Given the description of an element on the screen output the (x, y) to click on. 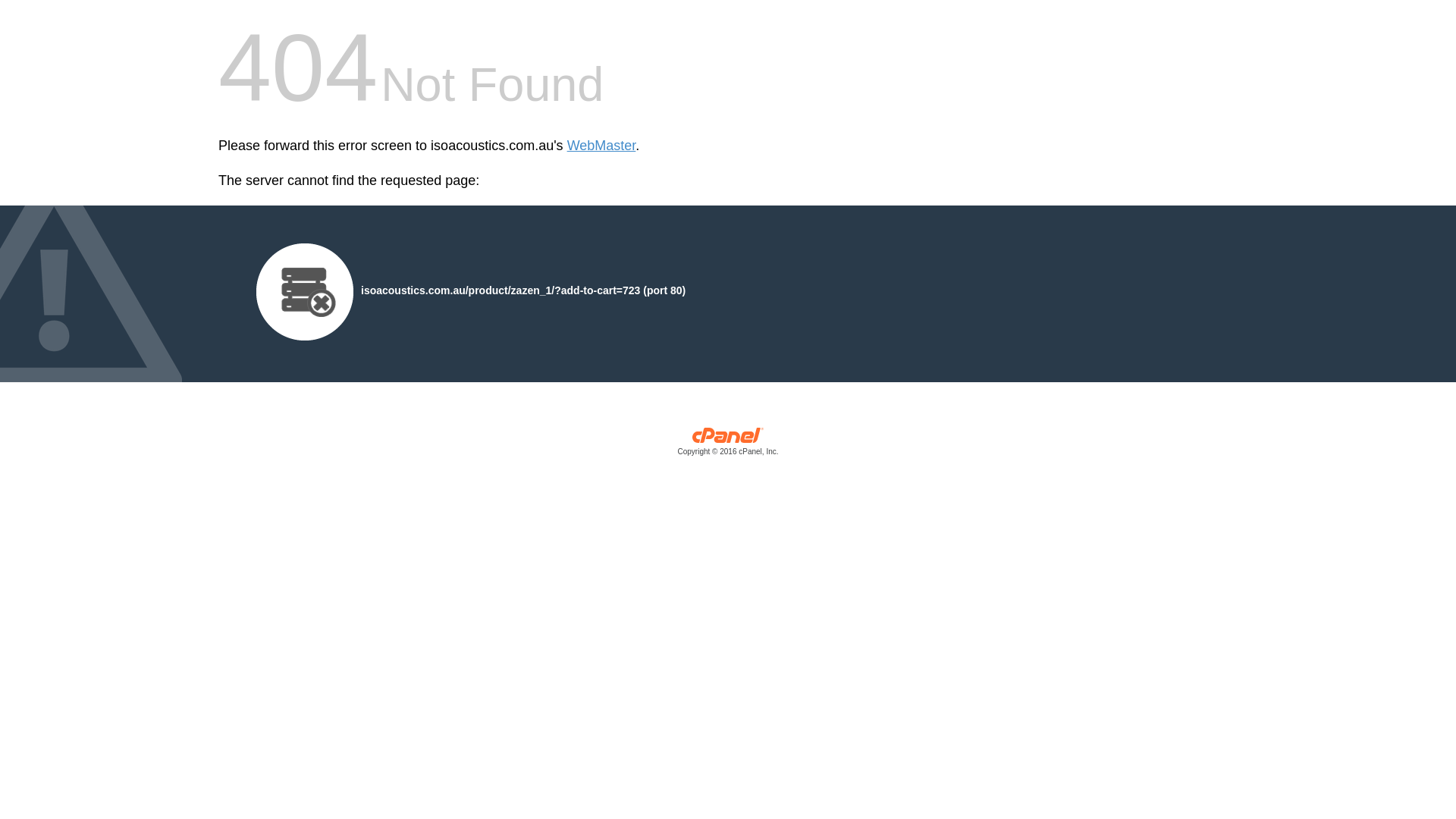
WebMaster Element type: text (601, 145)
